Given the description of an element on the screen output the (x, y) to click on. 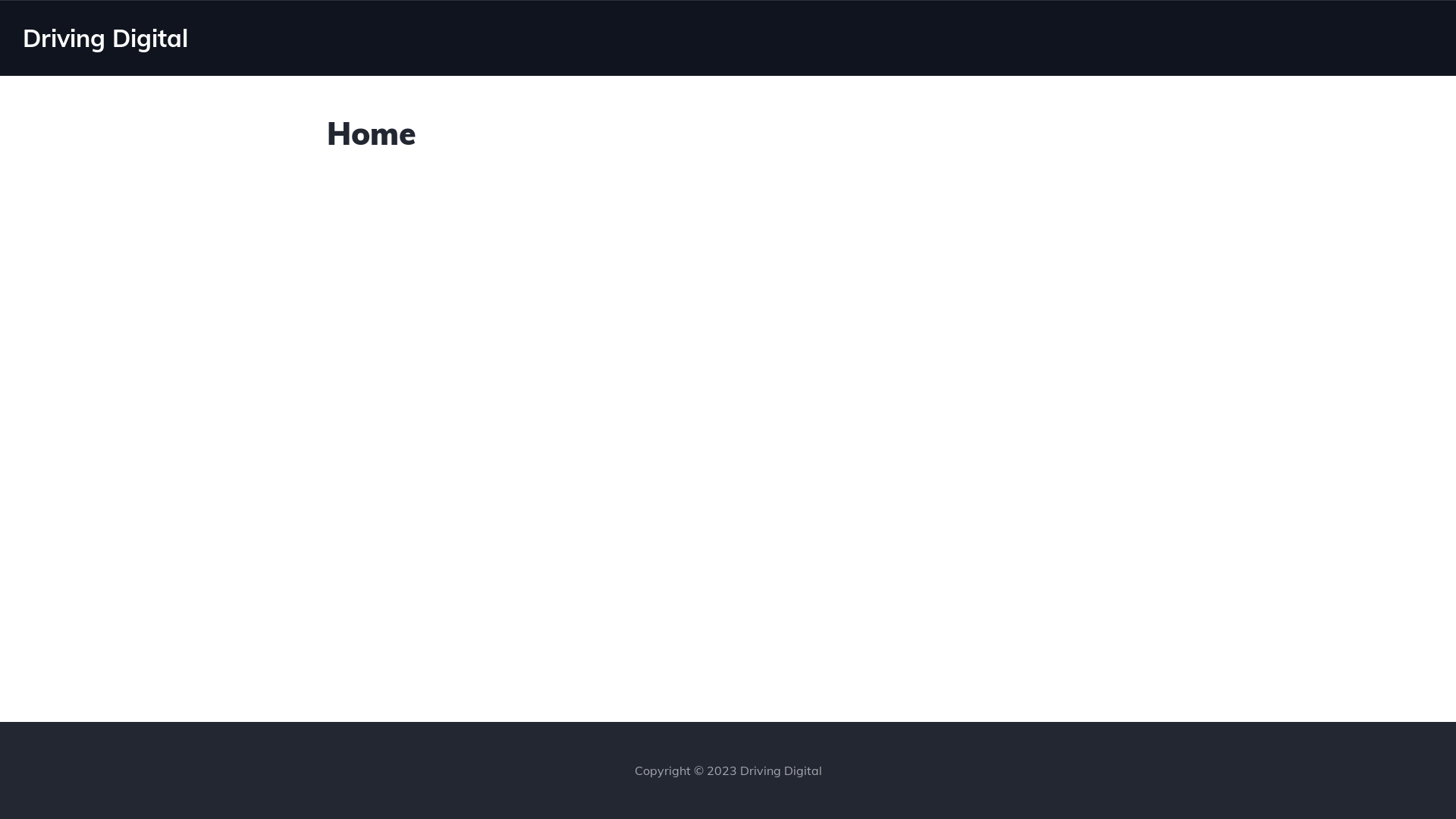
Driving Digital Element type: text (105, 37)
